Given the description of an element on the screen output the (x, y) to click on. 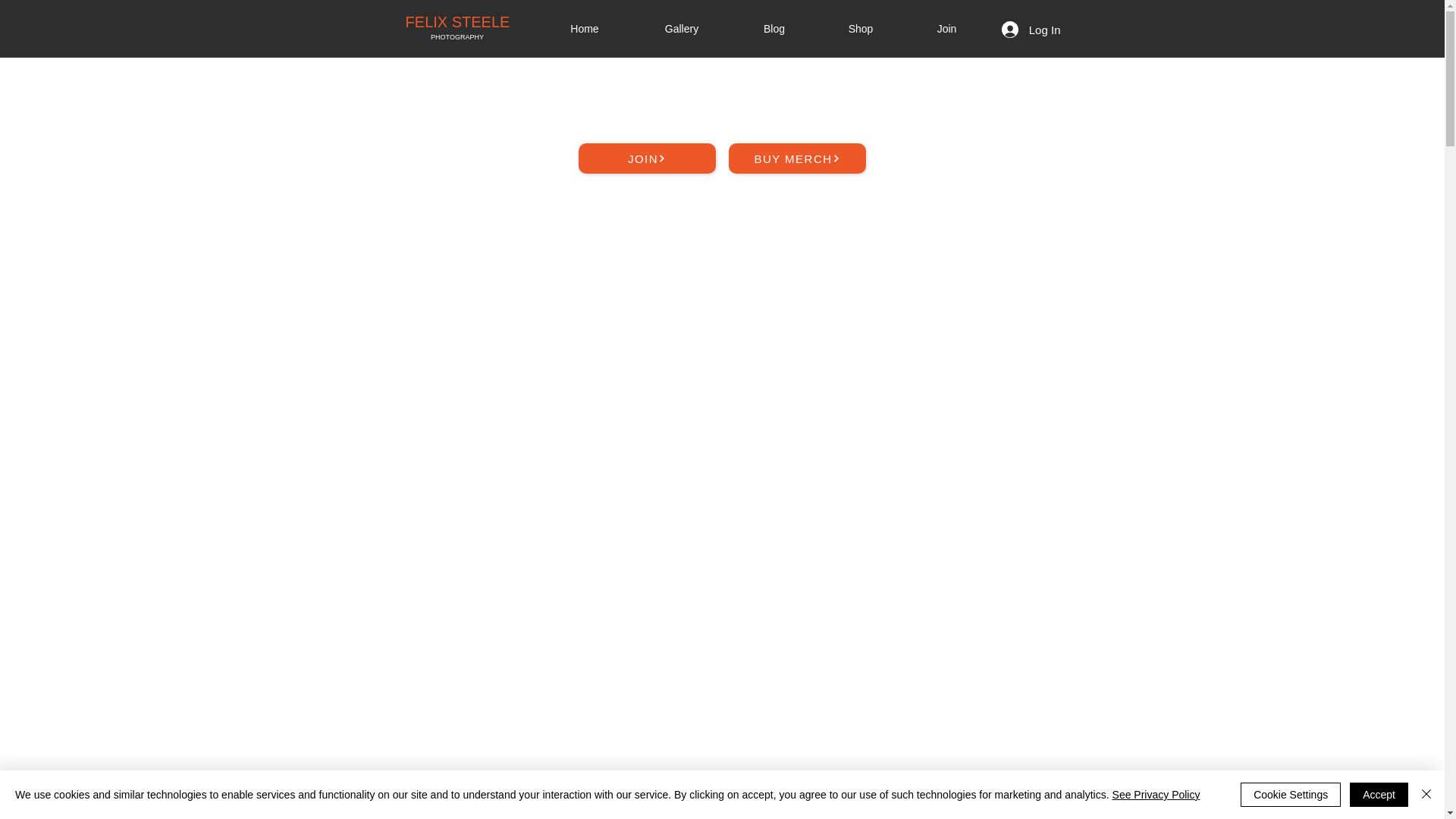
PHOTOGRAPHY (456, 36)
JOIN (646, 158)
Home (584, 28)
Join (946, 28)
Cookie Settings (1290, 794)
See Privacy Policy (1155, 794)
Blog (774, 28)
Accept (1378, 794)
Shop (859, 28)
BUY MERCH (796, 158)
